Given the description of an element on the screen output the (x, y) to click on. 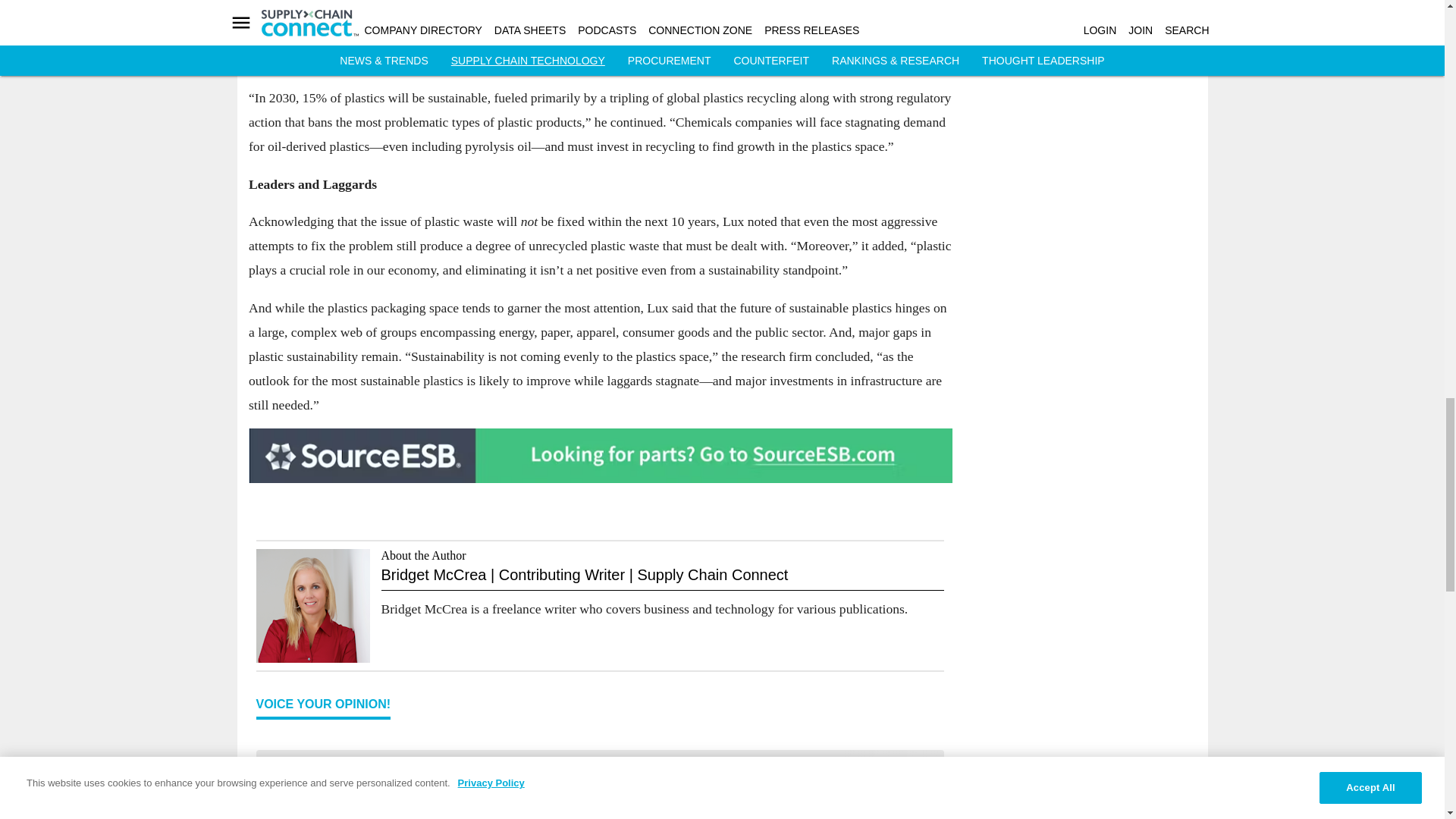
Source Esb Looking For Parts (600, 455)
